Given the description of an element on the screen output the (x, y) to click on. 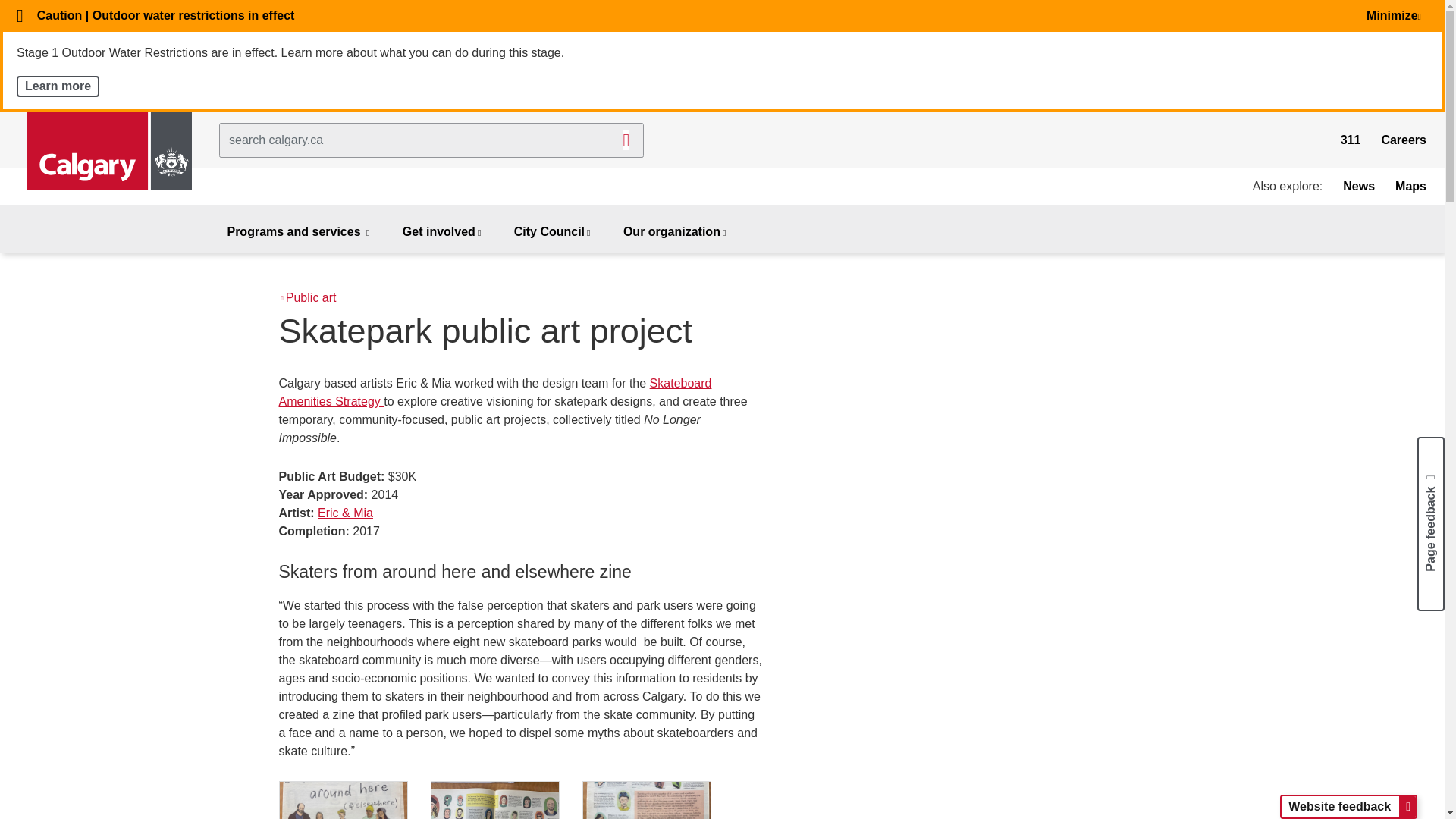
Minimize (1397, 15)
Careers (1403, 139)
Learn more (57, 86)
Maps (1410, 185)
City Council (553, 233)
Get involved (442, 233)
311 (1350, 139)
Programs and services (298, 233)
News (1358, 185)
Submit search (626, 139)
